Given the description of an element on the screen output the (x, y) to click on. 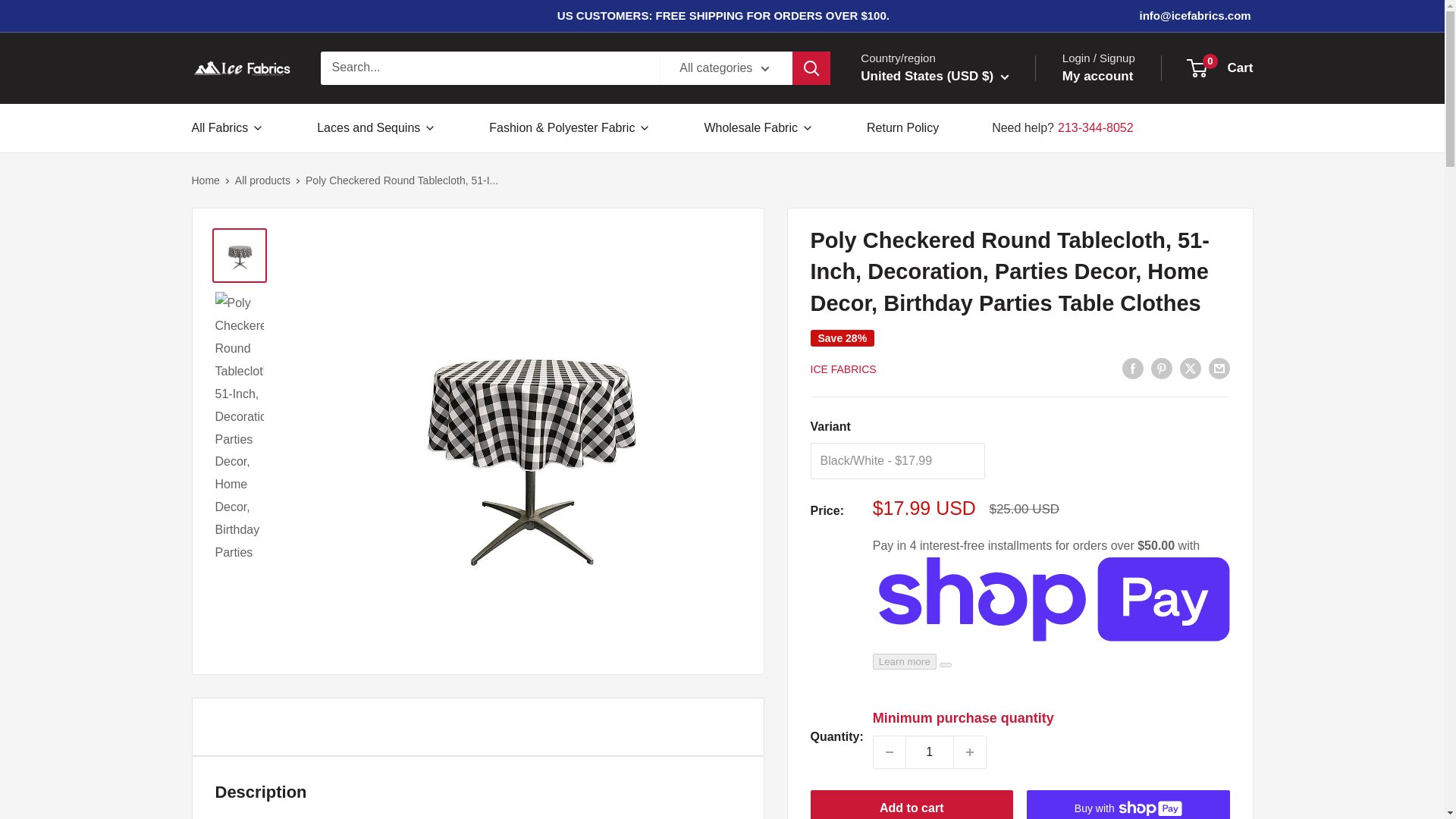
Decrease quantity by 1 (889, 752)
1 (929, 752)
Increase quantity by 1 (969, 752)
